Given the description of an element on the screen output the (x, y) to click on. 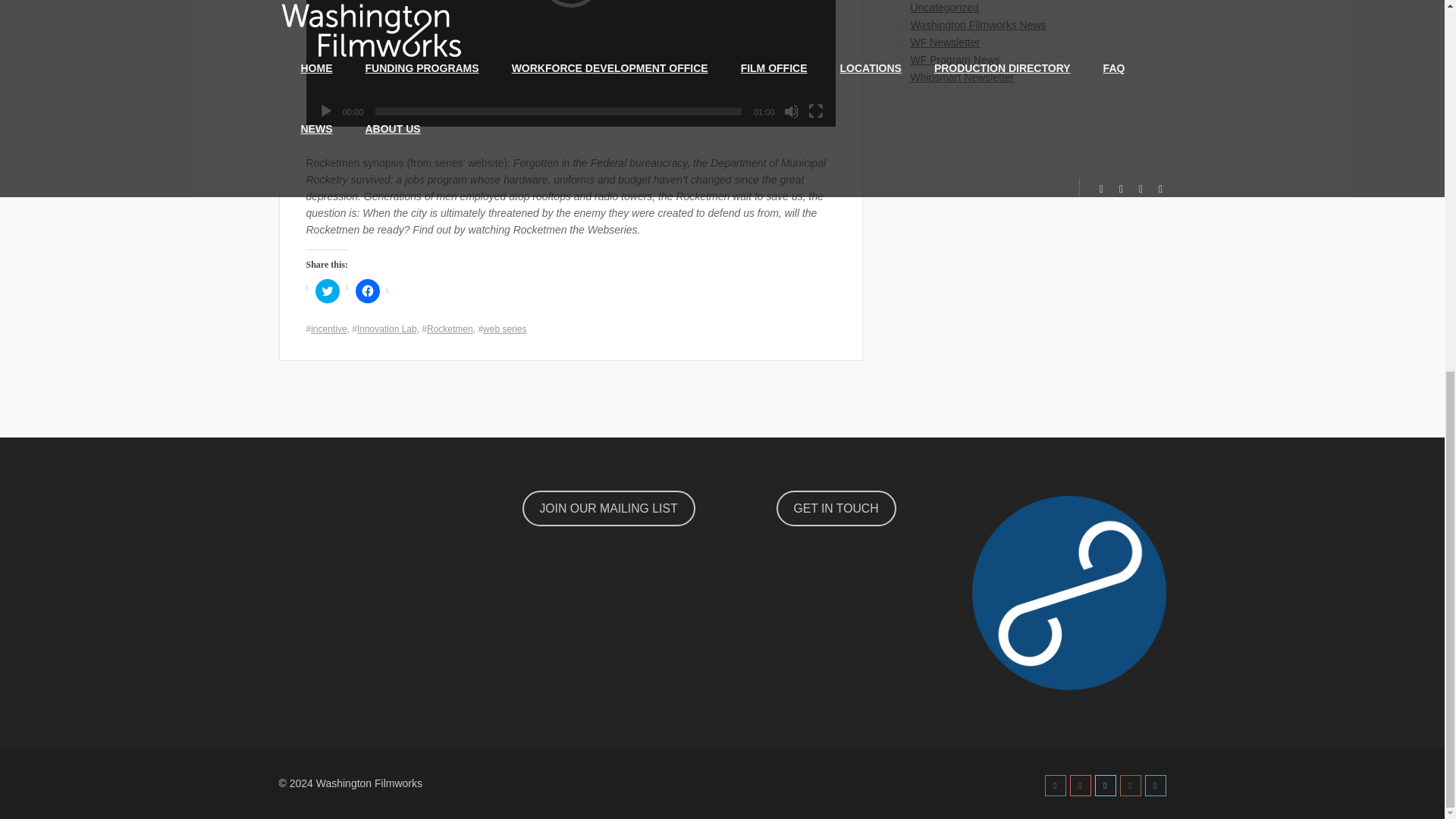
Mute (791, 111)
Click to share on Facebook (367, 291)
Click to share on Twitter (327, 291)
Play (325, 111)
Fullscreen (816, 111)
